Given the description of an element on the screen output the (x, y) to click on. 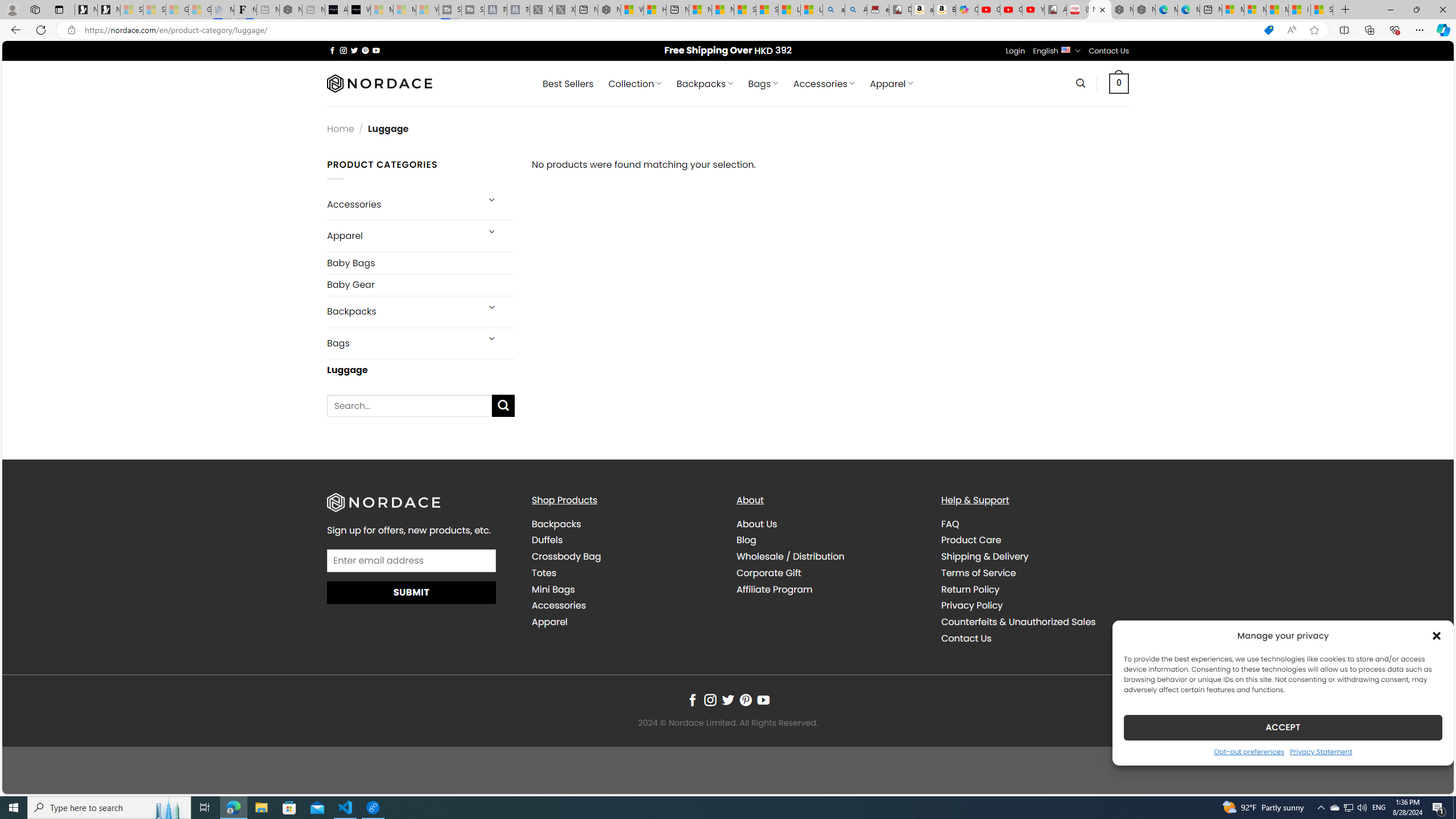
Luggage (421, 369)
Follow on Twitter (727, 700)
Return Policy (1034, 589)
Bags (402, 343)
Nordace - My Account (609, 9)
Crossbody Bag (566, 556)
Corporate Gift (830, 572)
Privacy Policy (971, 605)
Product Care (1034, 540)
